Given the description of an element on the screen output the (x, y) to click on. 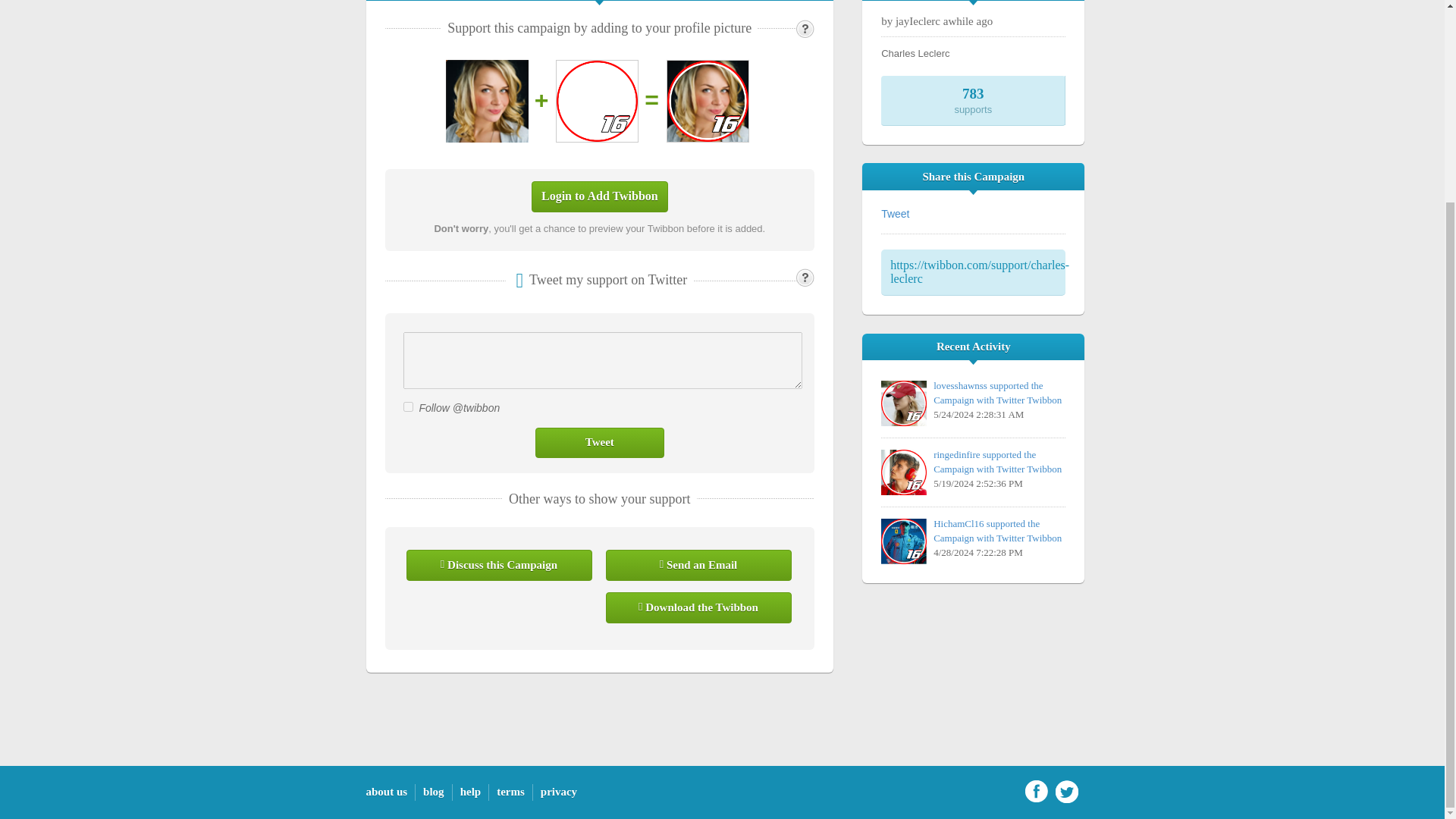
Tweet (599, 442)
help (470, 791)
Tweet (599, 442)
Login to Add Twibbon (599, 196)
? (804, 28)
Tweet (894, 214)
HichamCl16 supported the Campaign with Twitter Twibbon (997, 530)
Send an Email (697, 564)
ringedinfire supported the Campaign with Twitter Twibbon (997, 461)
lovesshawnss supported the Campaign with Twitter Twibbon (997, 392)
about us (386, 791)
? (804, 277)
blog (433, 791)
Download the Twibbon (697, 607)
Discuss this Campaign (499, 564)
